Given the description of an element on the screen output the (x, y) to click on. 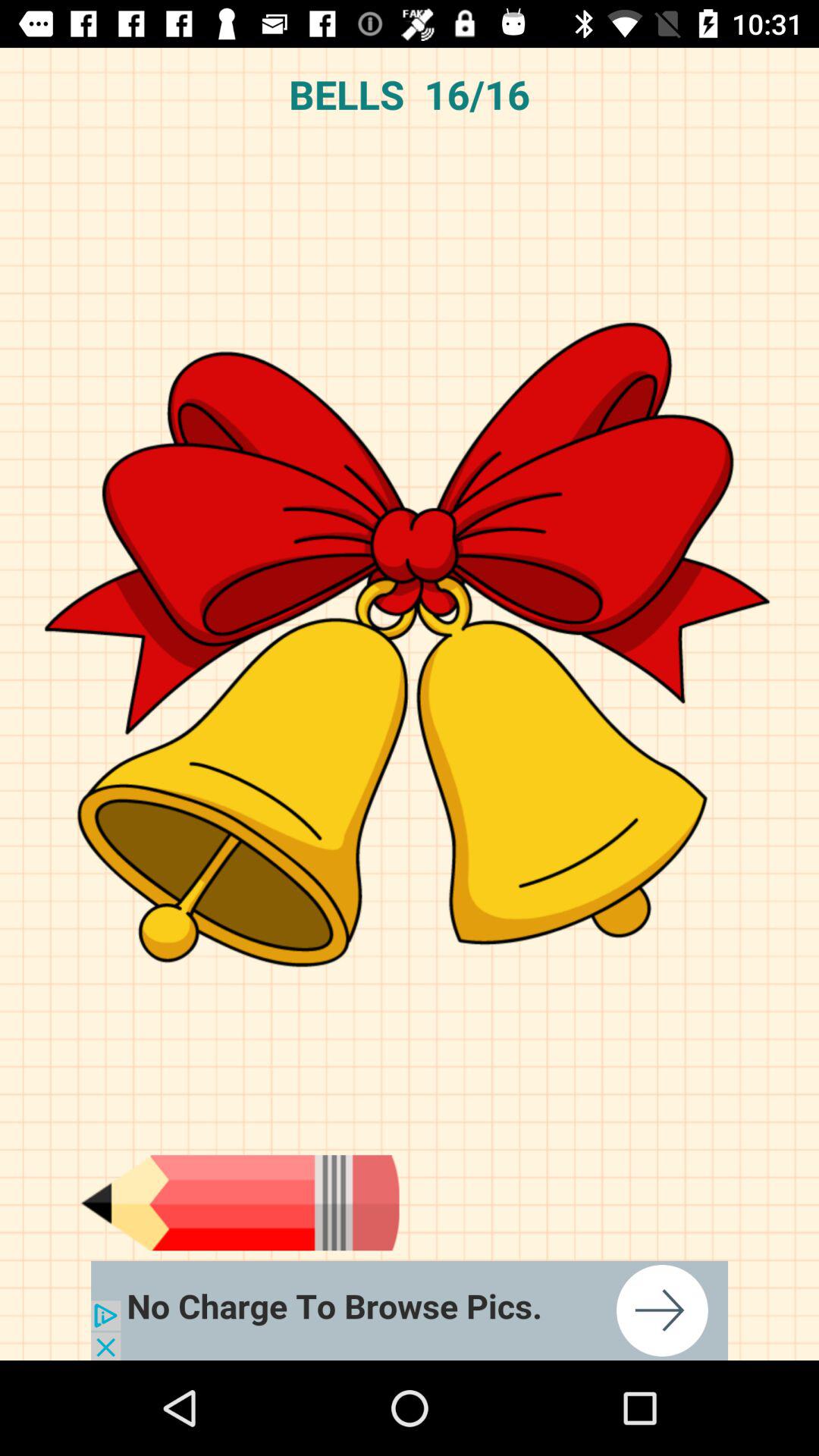
click to next (409, 1310)
